Given the description of an element on the screen output the (x, y) to click on. 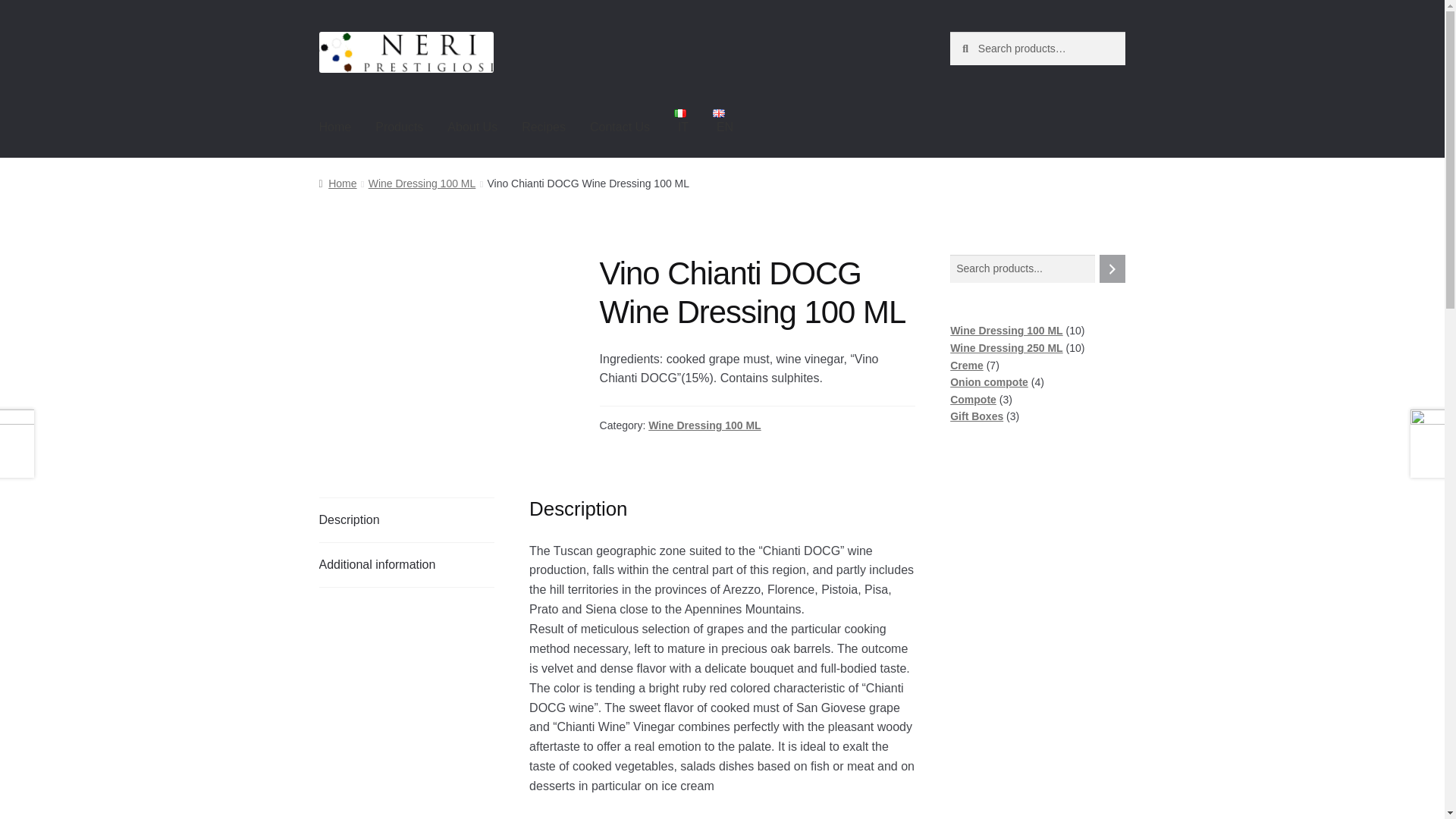
Compote (972, 399)
Contact Us (620, 127)
Products (398, 127)
Wine Dressing 100 ML (422, 183)
Home (337, 183)
Recipes (543, 127)
Home (335, 127)
Onion compote (988, 381)
Wine Dressing 250 ML (1006, 347)
